Given the description of an element on the screen output the (x, y) to click on. 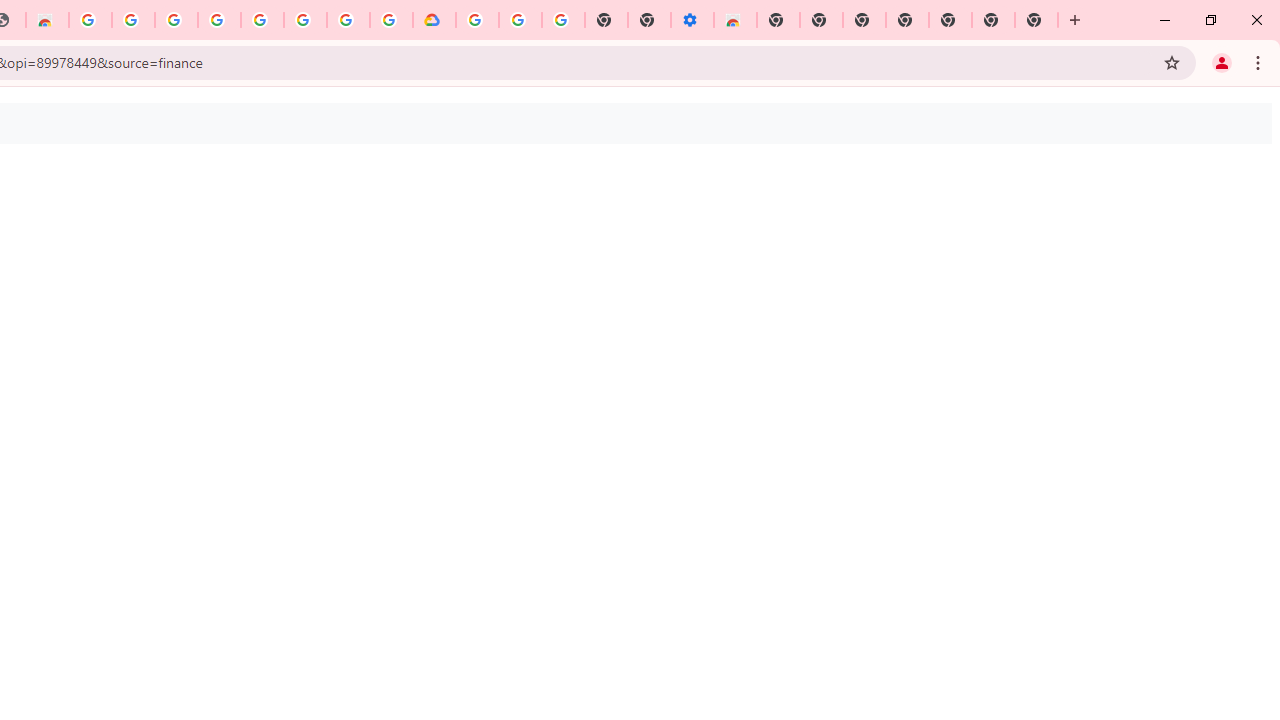
Ad Settings (176, 20)
Chrome Web Store - Accessibility extensions (735, 20)
New Tab (777, 20)
Browse the Google Chrome Community - Google Chrome Community (391, 20)
Chrome Web Store - Household (47, 20)
Turn cookies on or off - Computer - Google Account Help (562, 20)
